Given the description of an element on the screen output the (x, y) to click on. 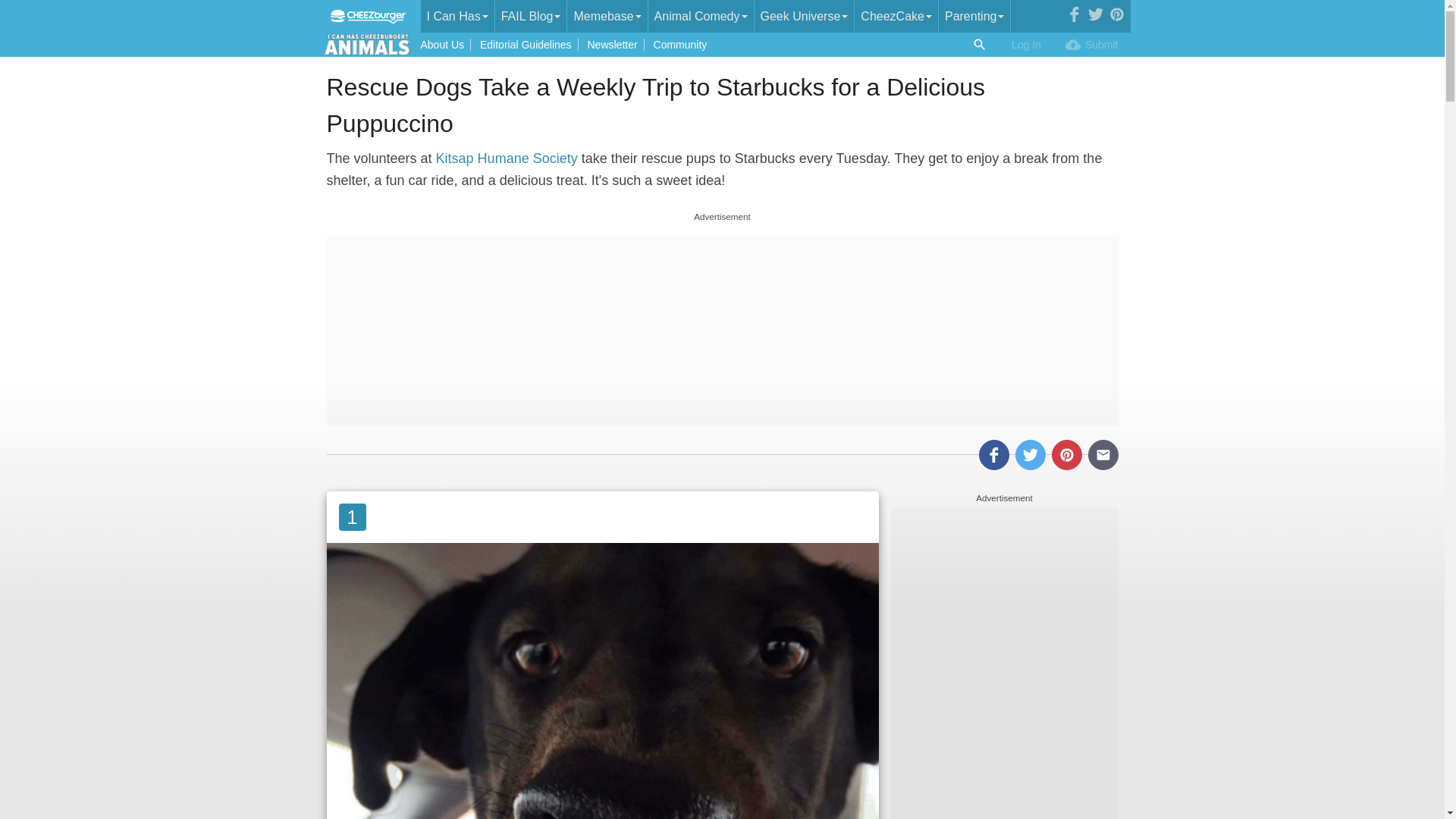
Memebase (606, 16)
I Can Has (456, 16)
World's largest collection of cat memes and other animals (456, 16)
Animal Comedy (700, 16)
FAIL Blog (531, 16)
Cheezburger Homepage (367, 16)
